Given the description of an element on the screen output the (x, y) to click on. 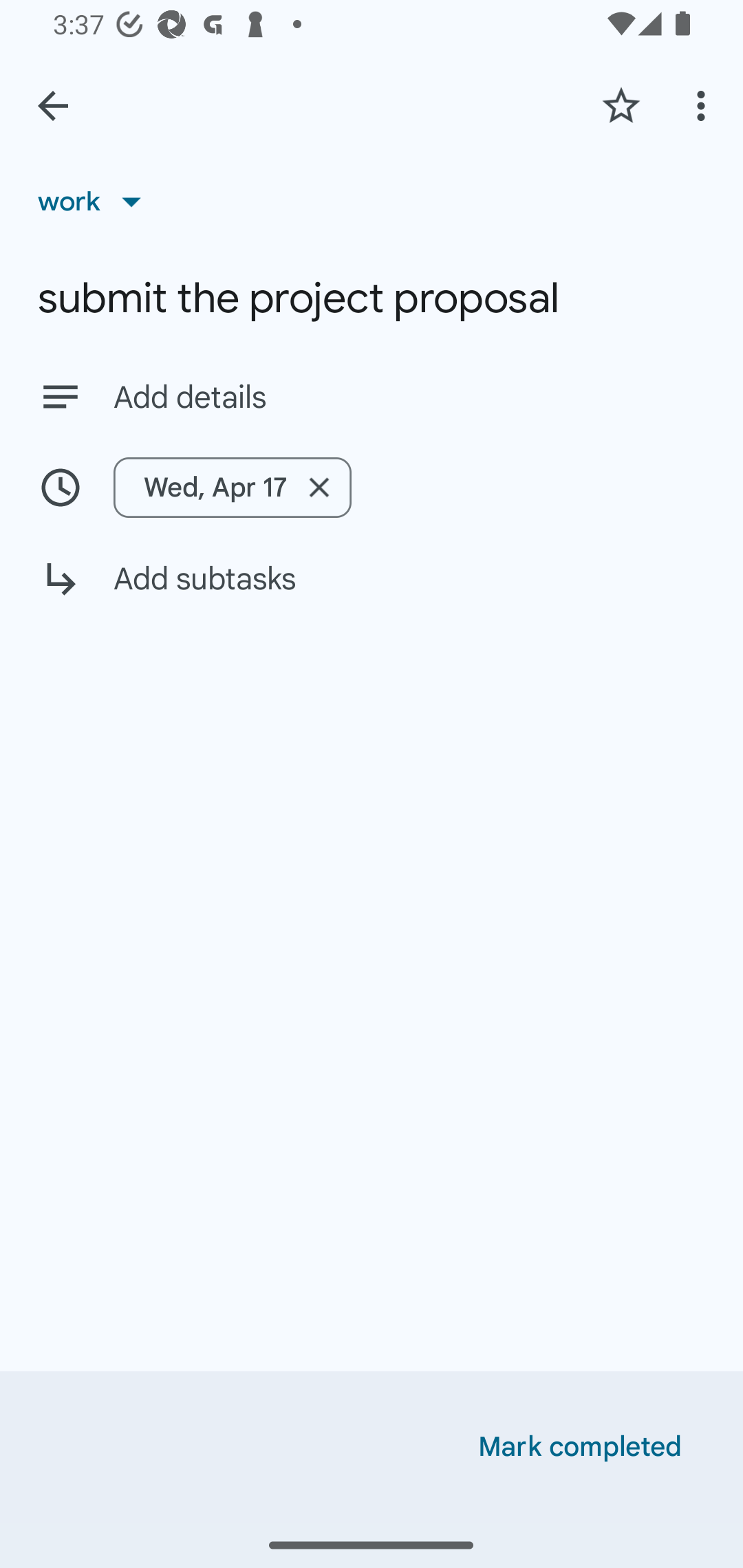
Back (53, 105)
Add star (620, 105)
More options (704, 105)
work List, work selected, 1 of 6 (95, 201)
submit the project proposal (371, 298)
Add details (371, 396)
Add details (409, 397)
Wed, Apr 17 Remove date/time (371, 487)
Wed, Apr 17 Remove date/time (232, 487)
Add subtasks (371, 593)
Mark completed (580, 1446)
